Given the description of an element on the screen output the (x, y) to click on. 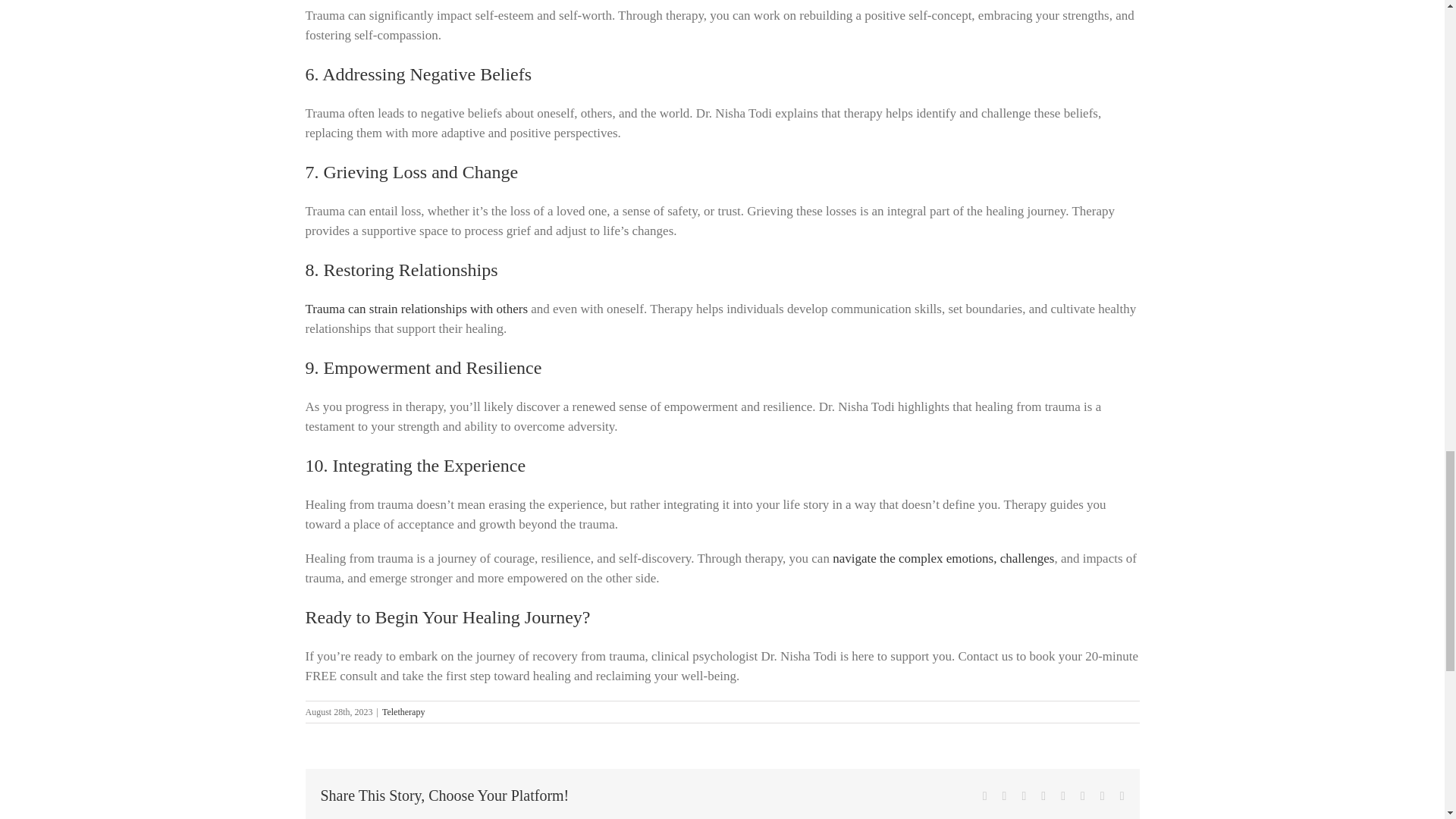
navigate the complex emotions, challenges (943, 558)
Trauma can strain relationships with others (415, 309)
Teletherapy (403, 711)
